Given the description of an element on the screen output the (x, y) to click on. 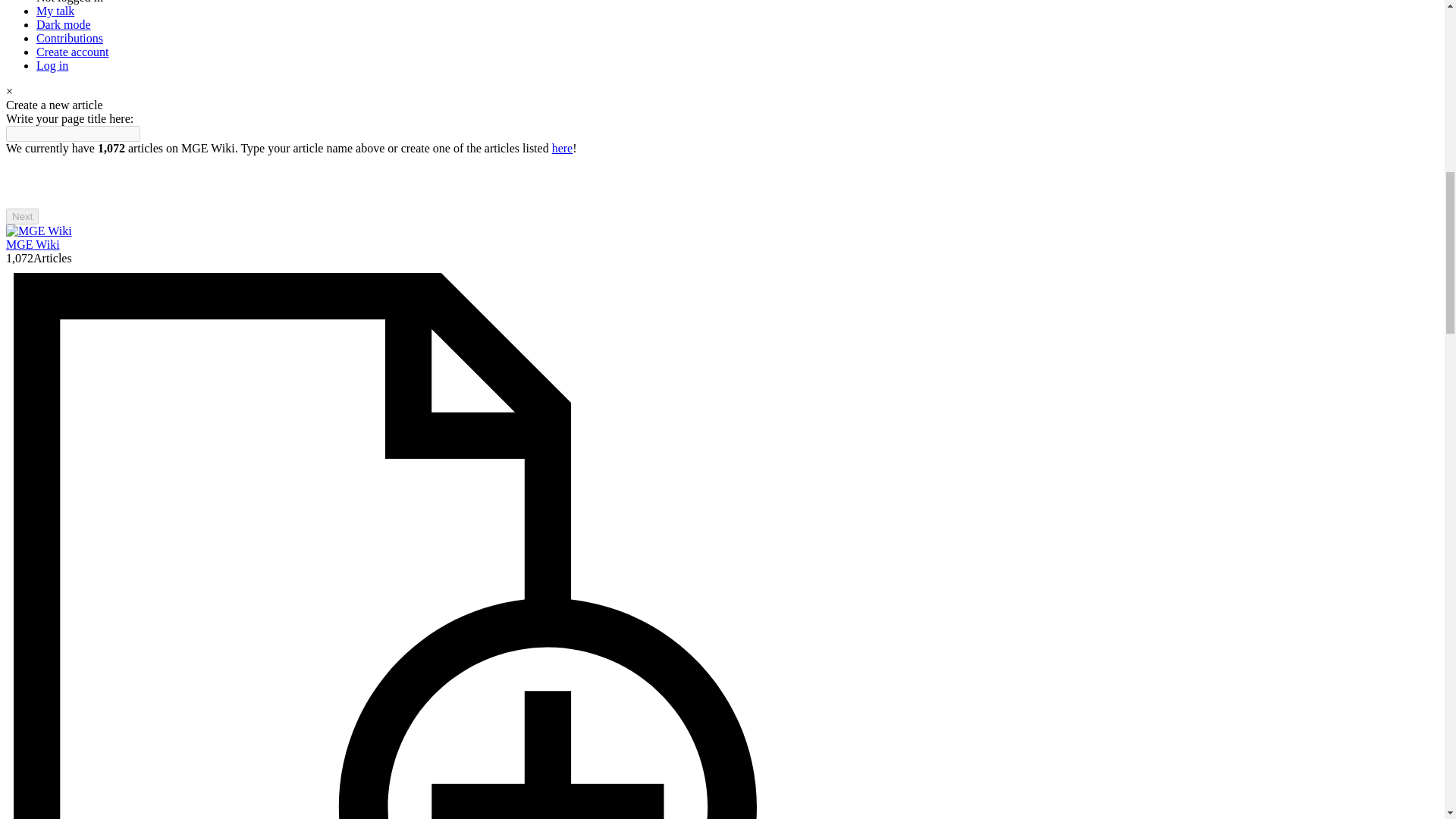
Visit the main page (38, 230)
You are encouraged to log in; however, it is not mandatory (52, 65)
The user page for the IP address you are editing as (69, 2)
Next (22, 216)
Discussion about edits from this IP address (55, 10)
Turn dark mode on (63, 24)
Special:WantedPages (562, 147)
A list of edits made from this IP address (69, 38)
